Given the description of an element on the screen output the (x, y) to click on. 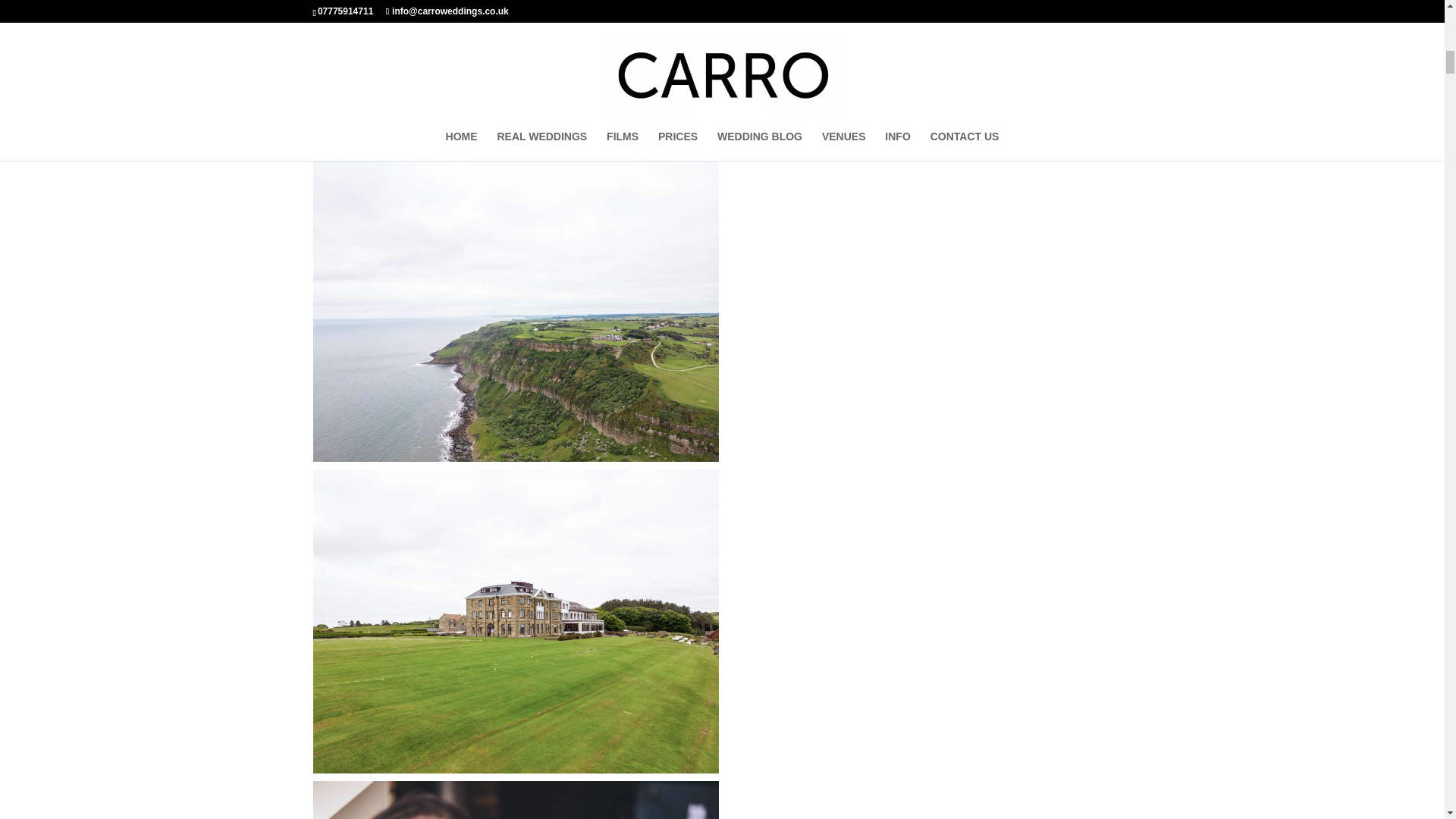
080623 Ayya and Elen Raven Hall Photos Socials Web-4 (515, 74)
080623 Ayya and Elen Raven Hall Photos Socials Web-7 (515, 800)
080623 Ayya and Elen Raven Hall Photos Socials Web-5 (515, 309)
080623 Ayya and Elen Raven Hall Photos Socials Web-6 (515, 621)
